Given the description of an element on the screen output the (x, y) to click on. 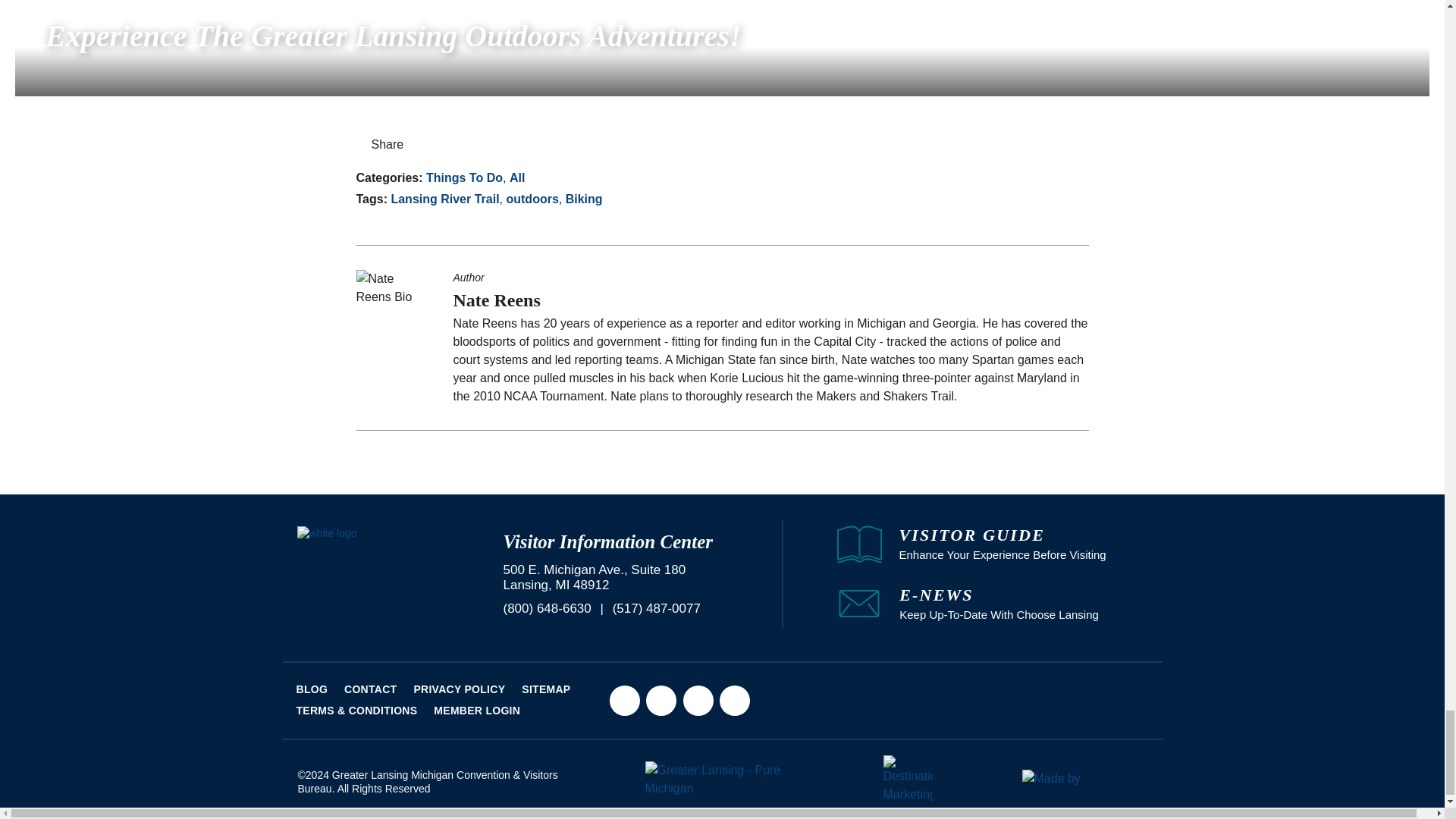
Visit our facebook page (625, 699)
Member Login (476, 710)
Visit our youtube page (734, 699)
Contact (369, 689)
Sitemap (545, 689)
Visit our instagram page (661, 699)
Visit our pinterest page (697, 699)
Blog (311, 689)
Privacy Policy (459, 689)
